Given the description of an element on the screen output the (x, y) to click on. 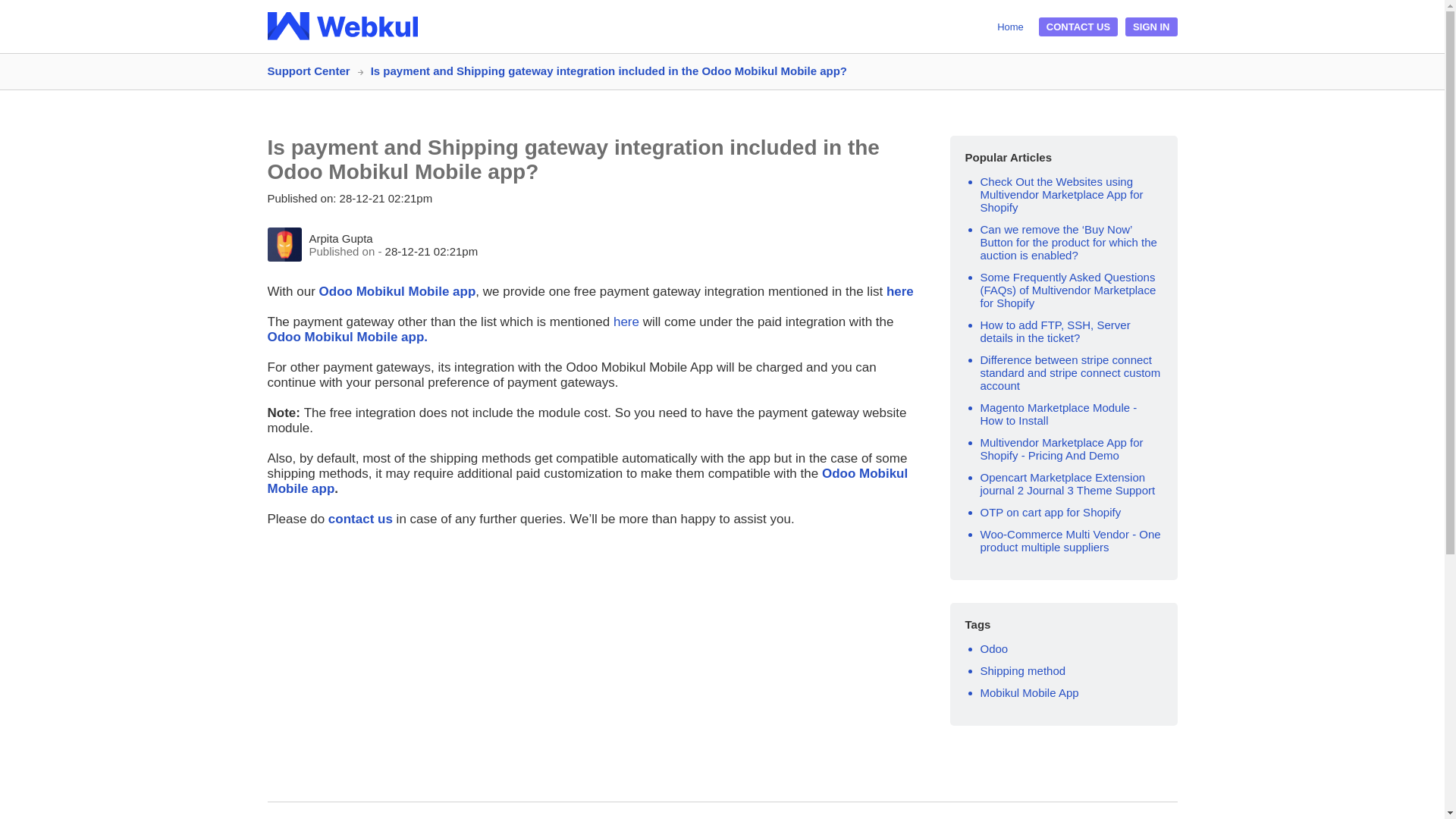
Odoo Mobikul Mobile app. (347, 336)
How to add FTP, SSH, Server details in the ticket? (1054, 330)
CONTACT US (1078, 26)
here (624, 321)
Odoo (993, 648)
Shipping method (1022, 670)
Odoo Mobikul Mobile app (395, 291)
Mobikul Mobile App (1028, 692)
Support Center (314, 70)
OTP on cart app for Shopify (1050, 512)
Home (1010, 26)
Multivendor Marketplace App for Shopify - Pricing And Demo (1060, 448)
